Given the description of an element on the screen output the (x, y) to click on. 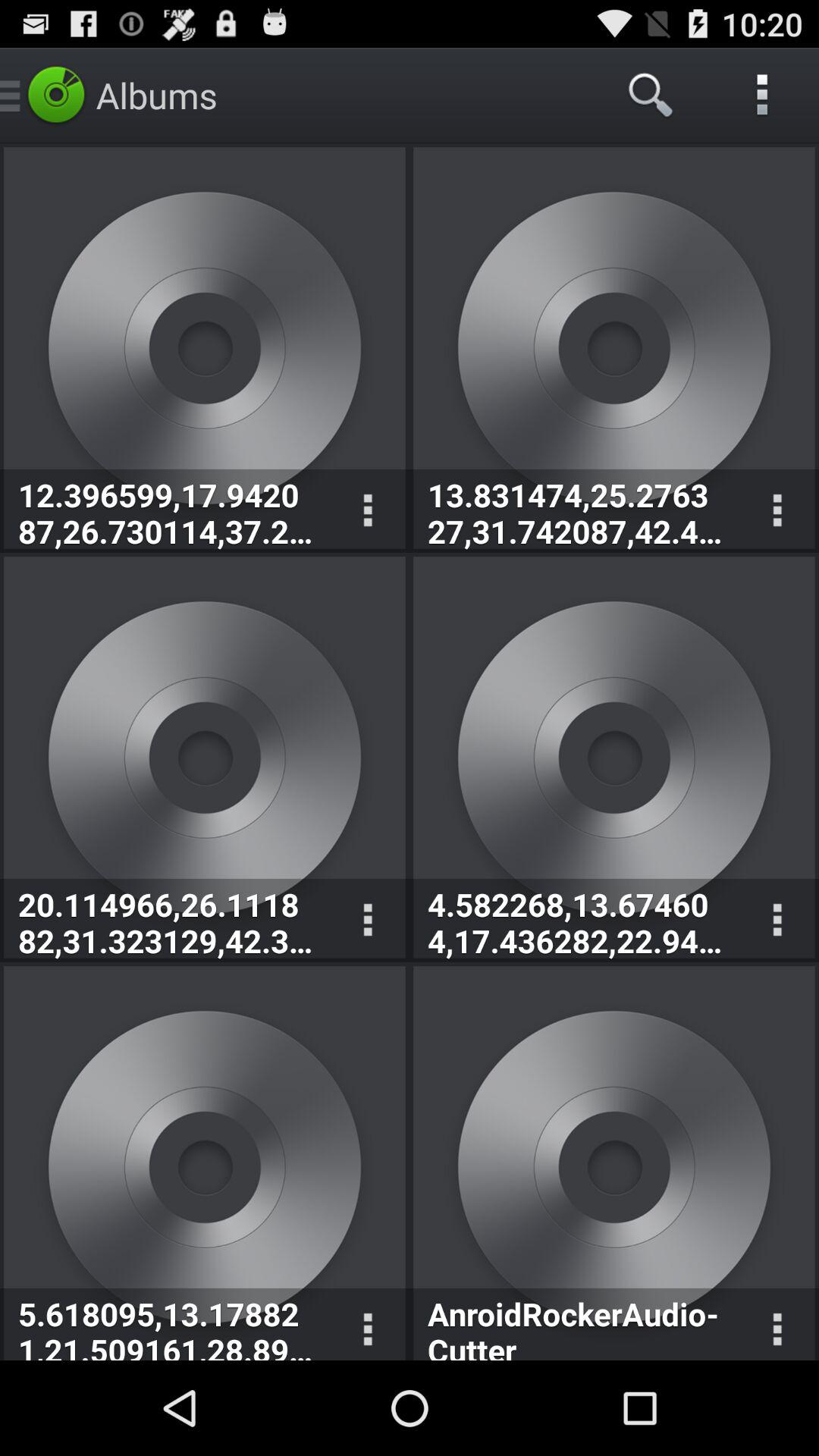
open options (777, 1324)
